Given the description of an element on the screen output the (x, y) to click on. 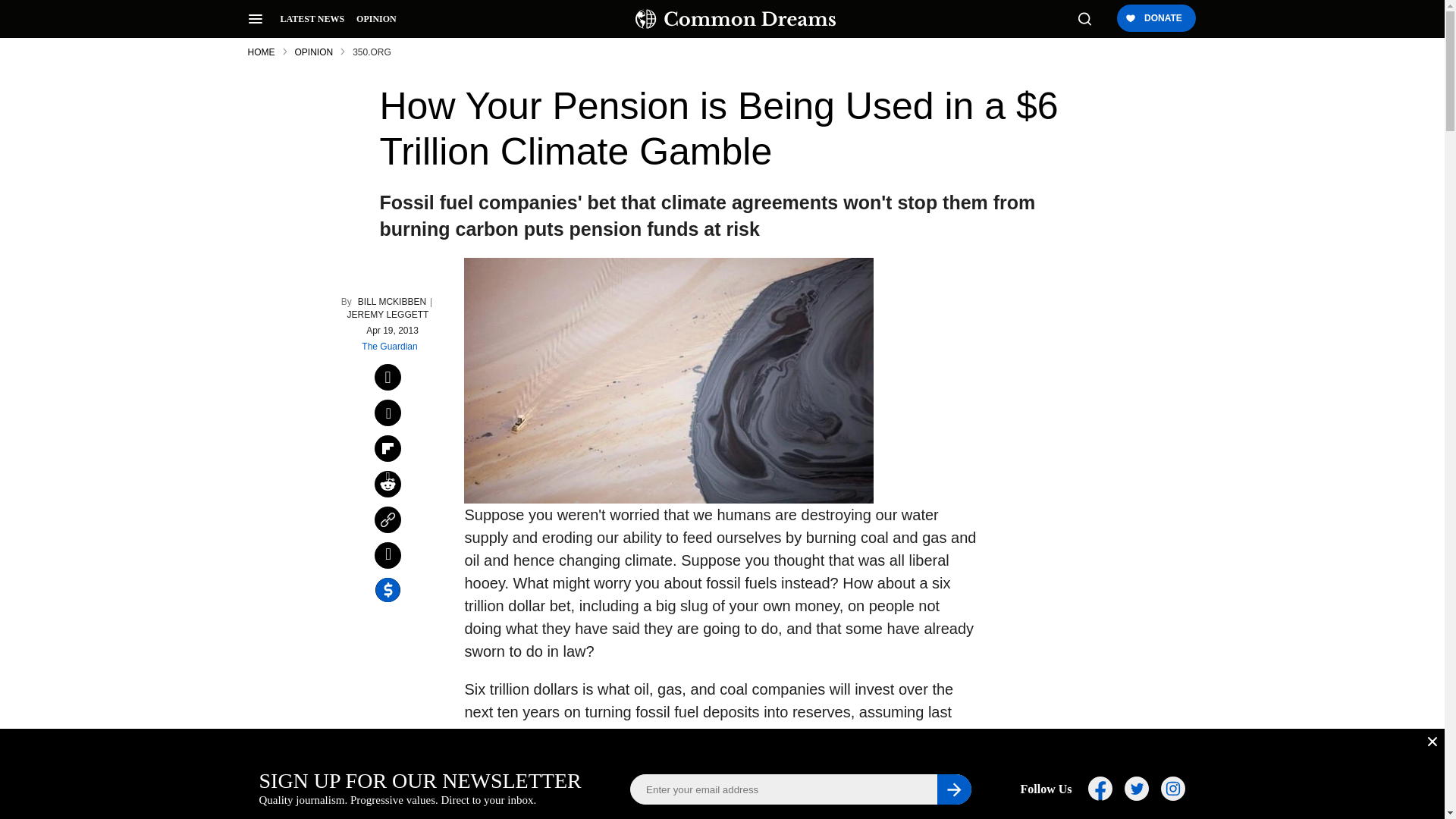
OPINION (376, 18)
LATEST NEWS (313, 18)
Common Dreams (734, 17)
Donate Button (1154, 19)
Copy this link to clipboard (387, 519)
